Given the description of an element on the screen output the (x, y) to click on. 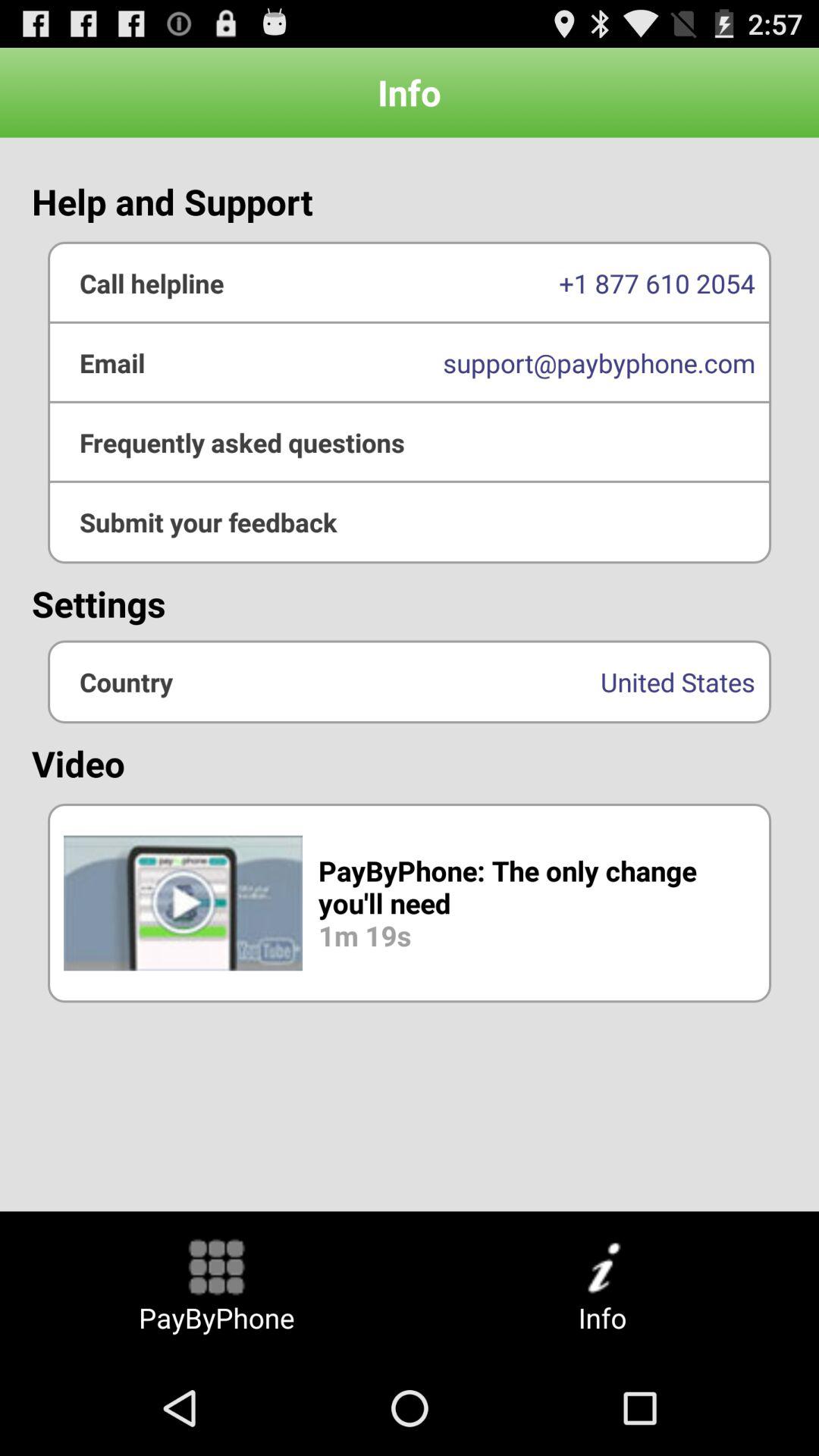
swipe to united states icon (409, 681)
